Given the description of an element on the screen output the (x, y) to click on. 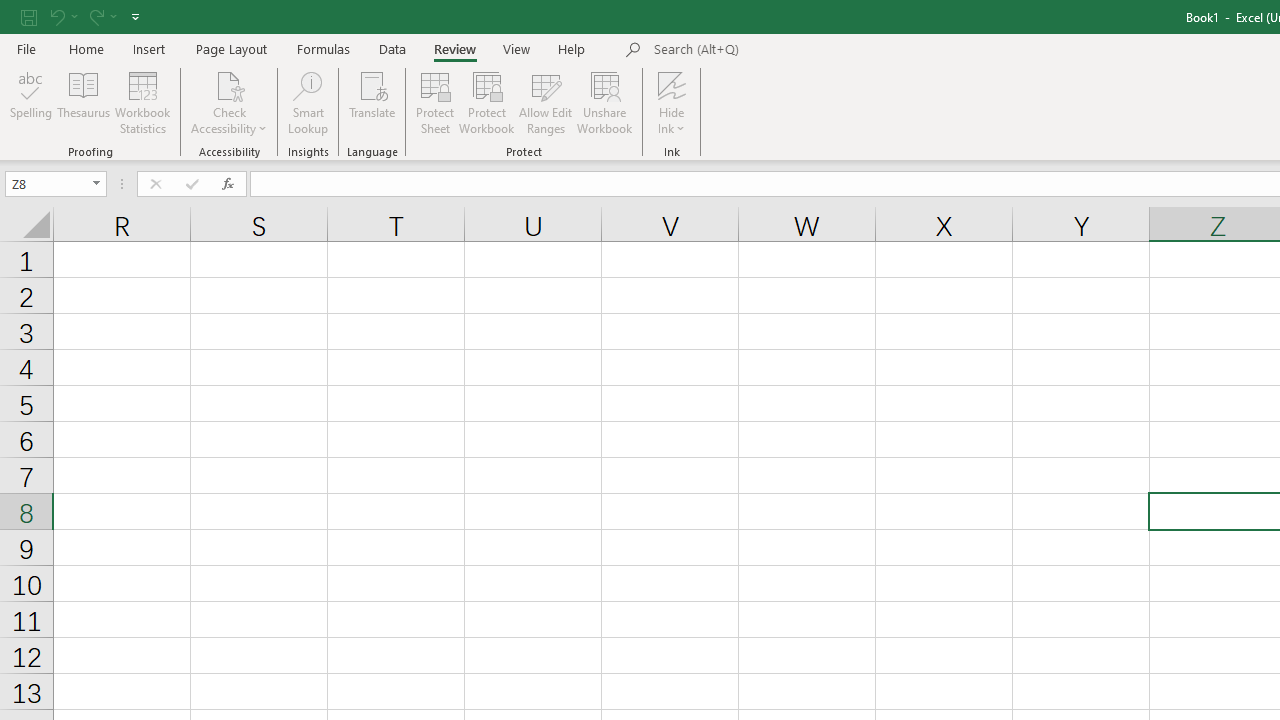
Data (392, 48)
Check Accessibility (229, 84)
Hide Ink (671, 102)
Protect Workbook... (486, 102)
Workbook Statistics (142, 102)
